Given the description of an element on the screen output the (x, y) to click on. 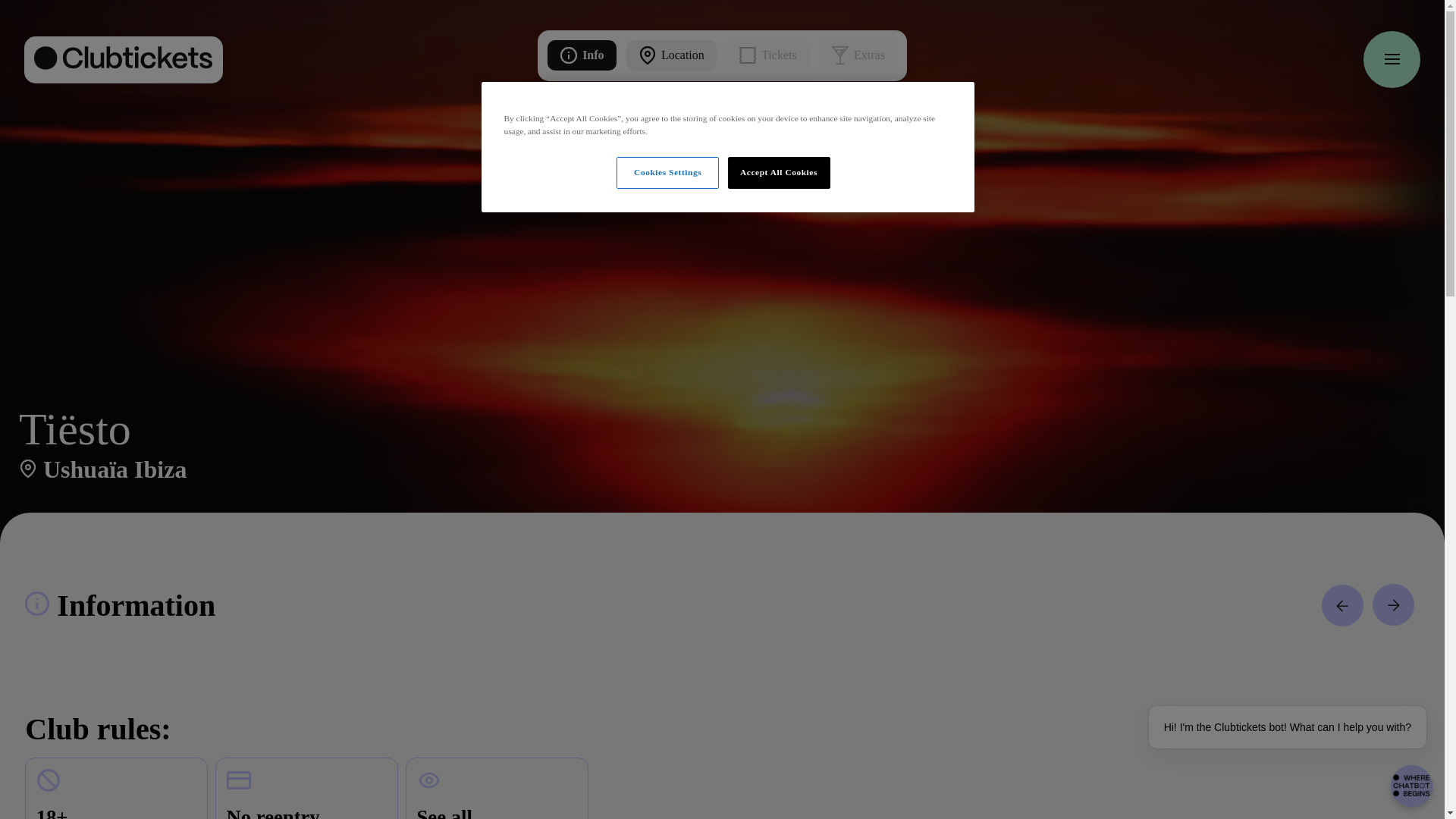
Info (581, 55)
See all (722, 55)
Location (497, 788)
Location (671, 55)
Info (671, 55)
Extras (581, 55)
Tickets (857, 55)
Extras (767, 55)
Tickets (857, 55)
